Given the description of an element on the screen output the (x, y) to click on. 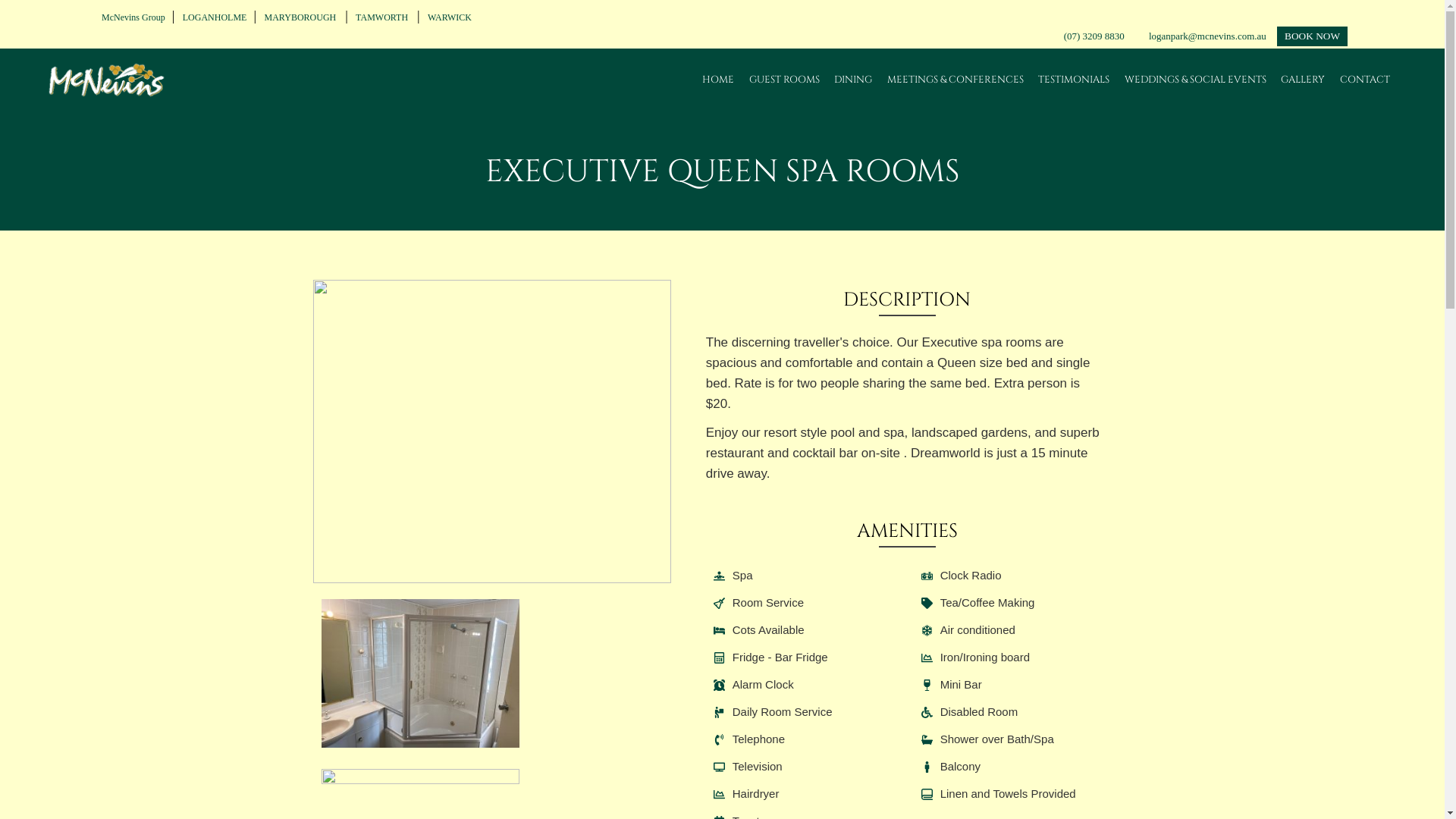
  MARYBOROUGH Element type: text (299, 17)
GUEST ROOMS Element type: text (784, 79)
  McNevins Group Element type: text (131, 17)
TESTIMONIALS Element type: text (1073, 79)
(07) 3209 8830 Element type: text (1093, 35)
Executive Queen Spa Room3 Element type: hover (491, 431)
MEETINGS & CONFERENCES Element type: text (955, 79)
DINING Element type: text (853, 79)
BOOK NOW Element type: text (1312, 36)
GALLERY Element type: text (1302, 79)
  LOGANHOLME Element type: text (212, 17)
CONTACT Element type: text (1364, 79)
  WARWICK Element type: text (447, 17)
HOME Element type: text (718, 79)
BOOK NOW Element type: text (1311, 35)
WEDDINGS & SOCIAL EVENTS Element type: text (1195, 79)
  loganpark@mcnevins.com.au Element type: text (1205, 35)
  TAMWORTH Element type: text (380, 17)
